Given the description of an element on the screen output the (x, y) to click on. 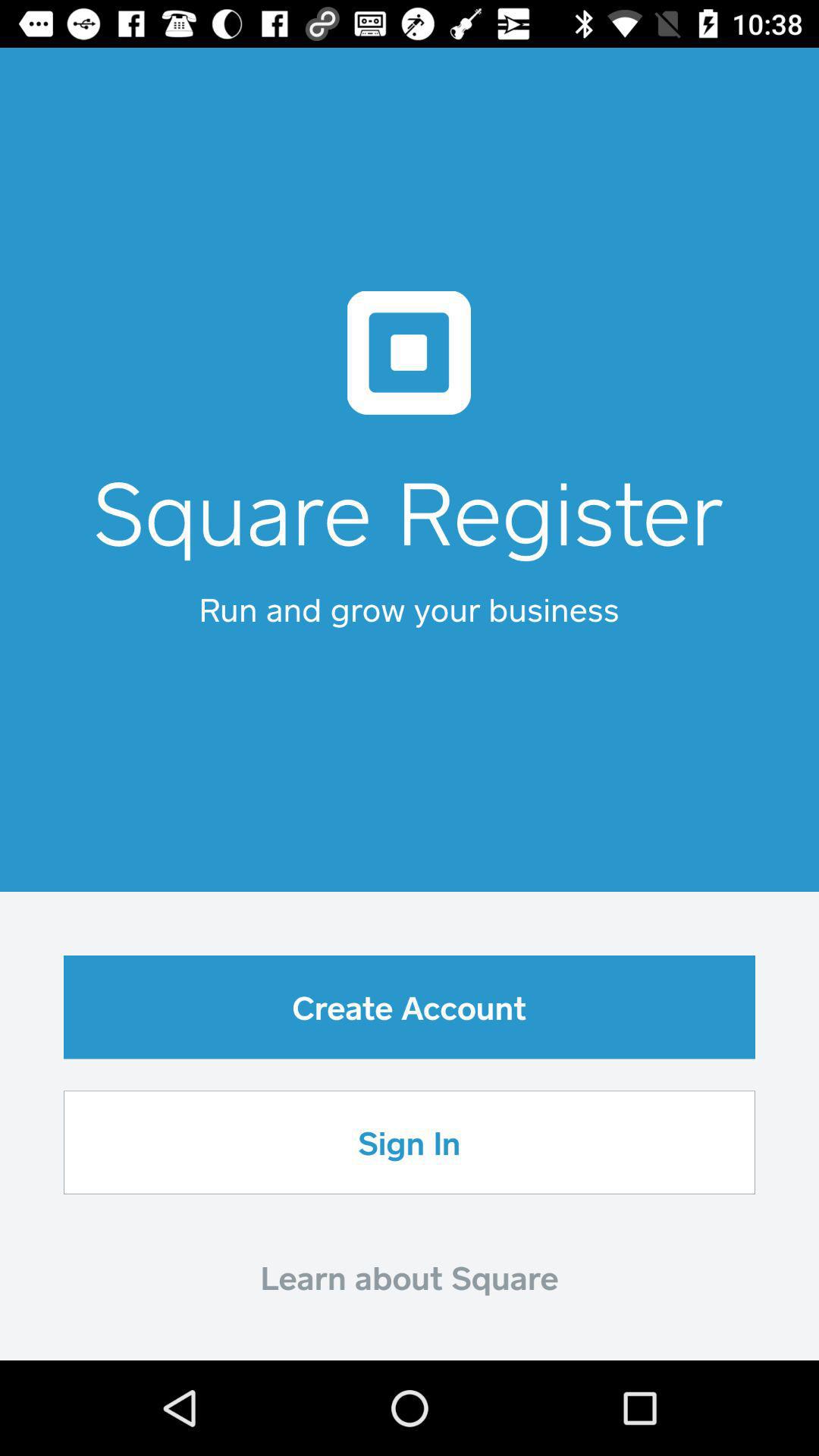
choose sign in (409, 1142)
